Given the description of an element on the screen output the (x, y) to click on. 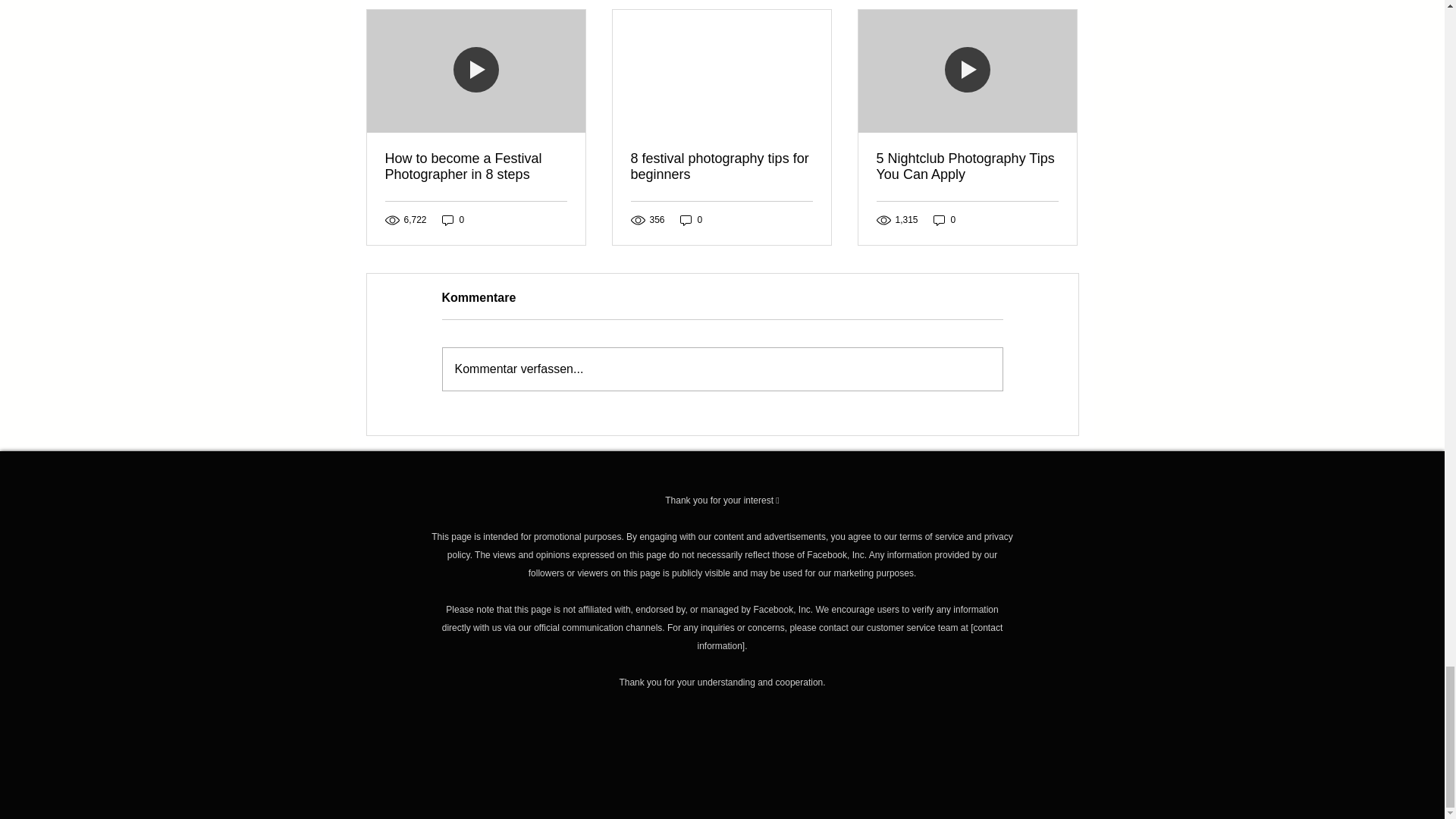
0 (944, 219)
0 (691, 219)
How to become a Festival Photographer in 8 steps (476, 166)
Kommentar verfassen... (722, 369)
8 festival photography tips for beginners (721, 166)
0 (453, 219)
5 Nightclub Photography Tips You Can Apply (967, 166)
